Given the description of an element on the screen output the (x, y) to click on. 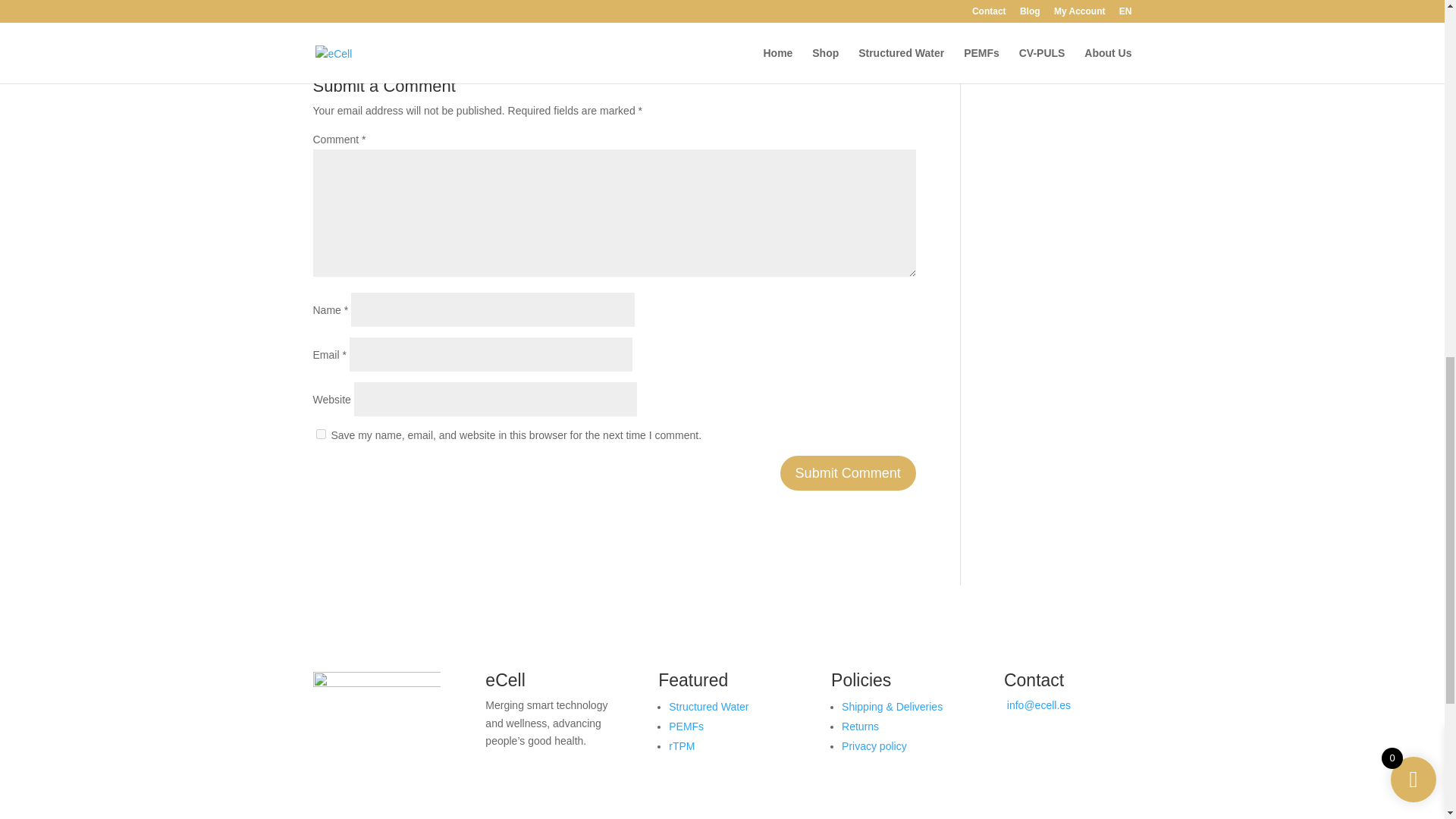
rTPM (681, 746)
yes (319, 433)
Follow on Facebook (1015, 749)
Structured Water (708, 706)
Submit Comment (847, 472)
Submit Comment (847, 472)
PEMFs (685, 726)
Privacy policy (874, 746)
Follow on Instagram (1045, 749)
Follow on Youtube (1076, 749)
